Given the description of an element on the screen output the (x, y) to click on. 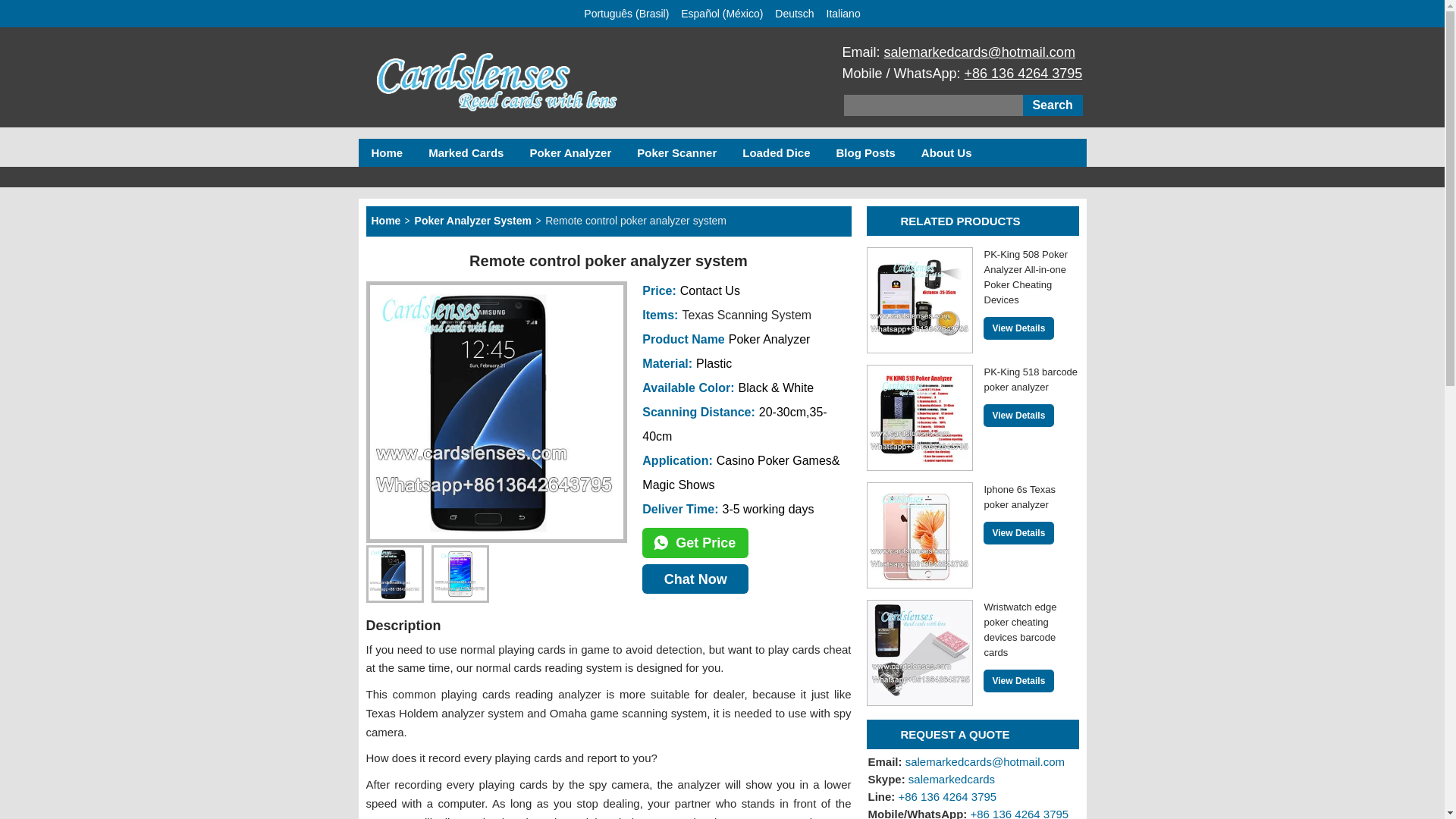
About Us (946, 152)
Click to contact via WhatsApp (695, 542)
Skype: salemarkedcards (972, 417)
Get Price (930, 779)
Marked Cards (695, 542)
Click to chat now (972, 535)
Deutsch (465, 152)
